Given the description of an element on the screen output the (x, y) to click on. 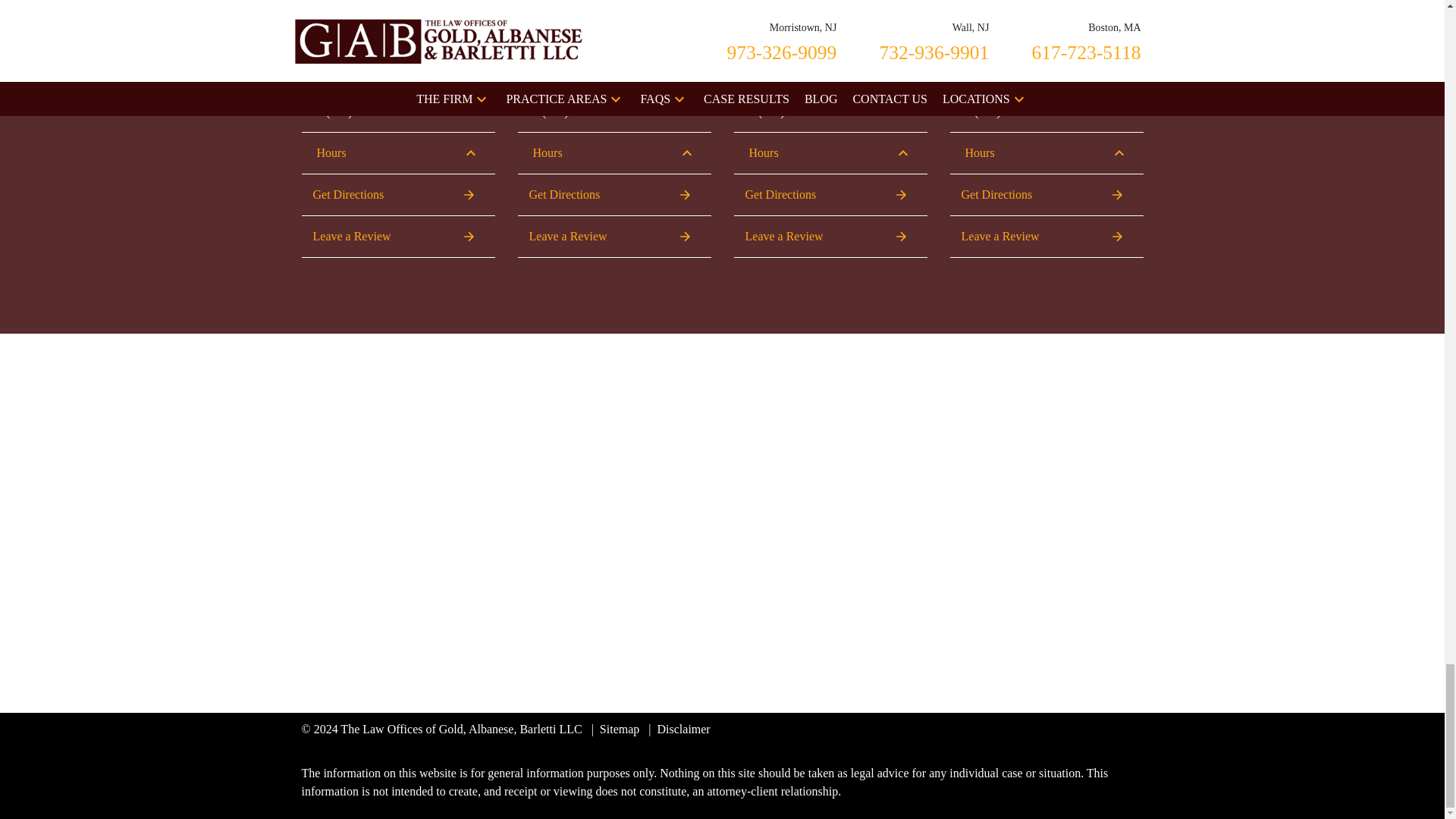
link to call attorney 973-326-9099 (346, 82)
link to call attorney 212-307-0023 (994, 82)
link to call attorney 617-723-5118 (778, 82)
link to call attorney 732-936-9901 (561, 82)
